Given the description of an element on the screen output the (x, y) to click on. 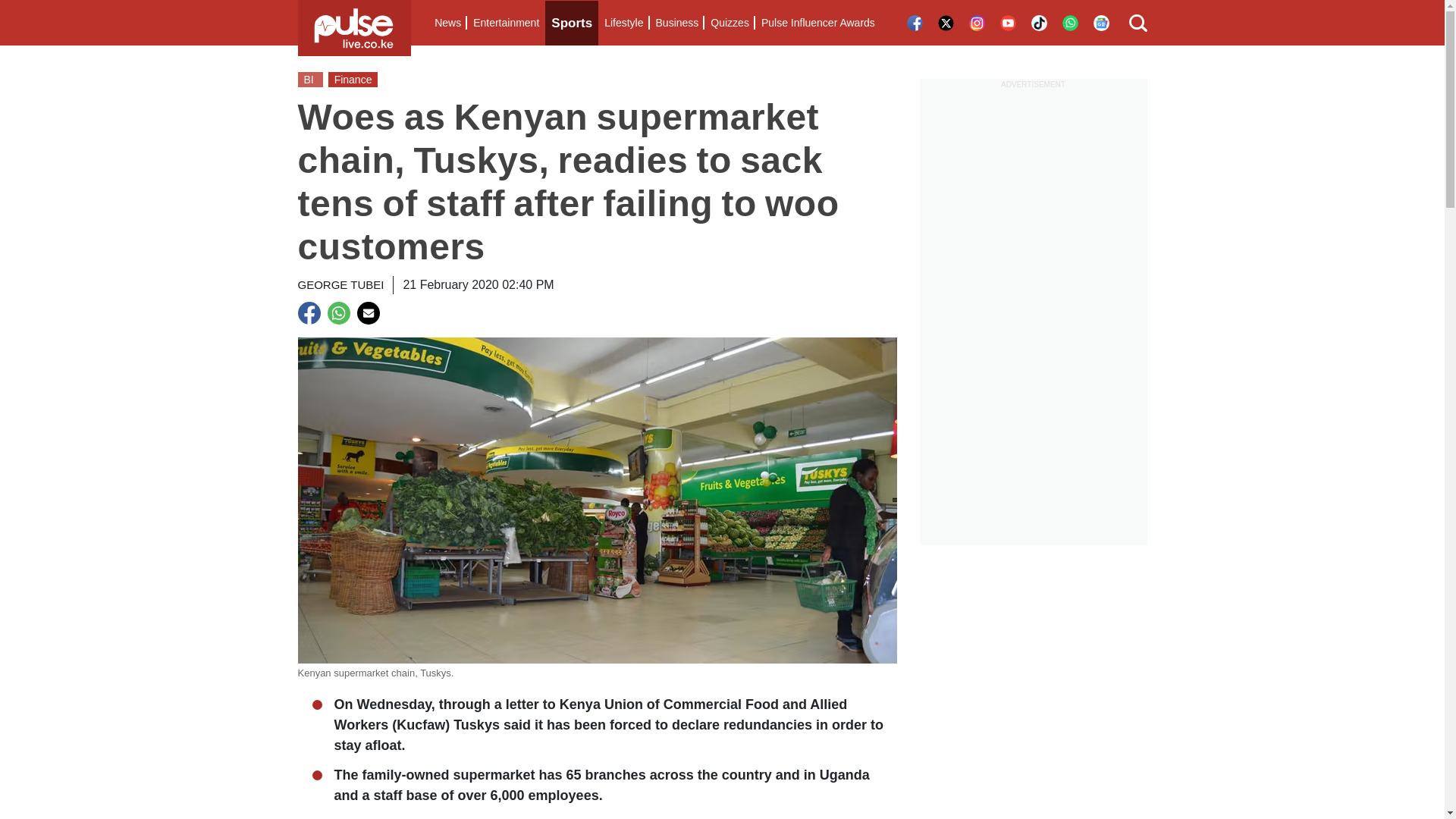
Sports (571, 22)
Lifestyle (623, 22)
Entertainment (505, 22)
Business (676, 22)
Pulse Influencer Awards (817, 22)
Quizzes (729, 22)
